Given the description of an element on the screen output the (x, y) to click on. 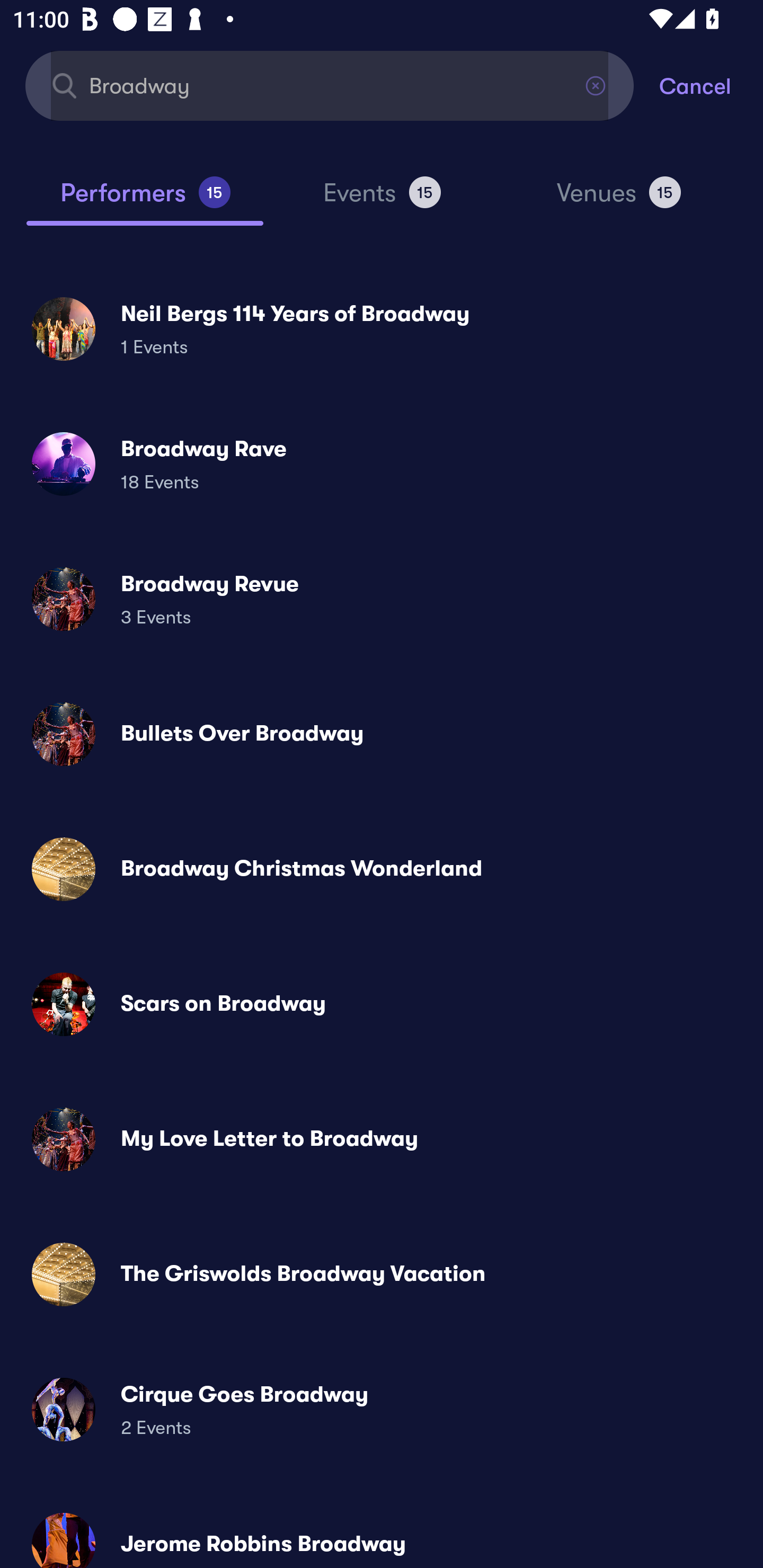
Broadway Find (329, 85)
Broadway Find (329, 85)
Cancel (711, 85)
Performers 15 (144, 200)
Events 15 (381, 200)
Venues 15 (618, 200)
Neil Bergs 114 Years of Broadway 1 Events (381, 328)
Broadway Rave 18 Events (381, 464)
Broadway Revue 3 Events (381, 598)
Bullets Over Broadway (381, 734)
Broadway Christmas Wonderland (381, 869)
Scars on Broadway (381, 1004)
My Love Letter to Broadway (381, 1138)
The Griswolds Broadway Vacation (381, 1273)
Cirque Goes Broadway 2 Events (381, 1409)
Jerome Robbins Broadway (381, 1532)
